Given the description of an element on the screen output the (x, y) to click on. 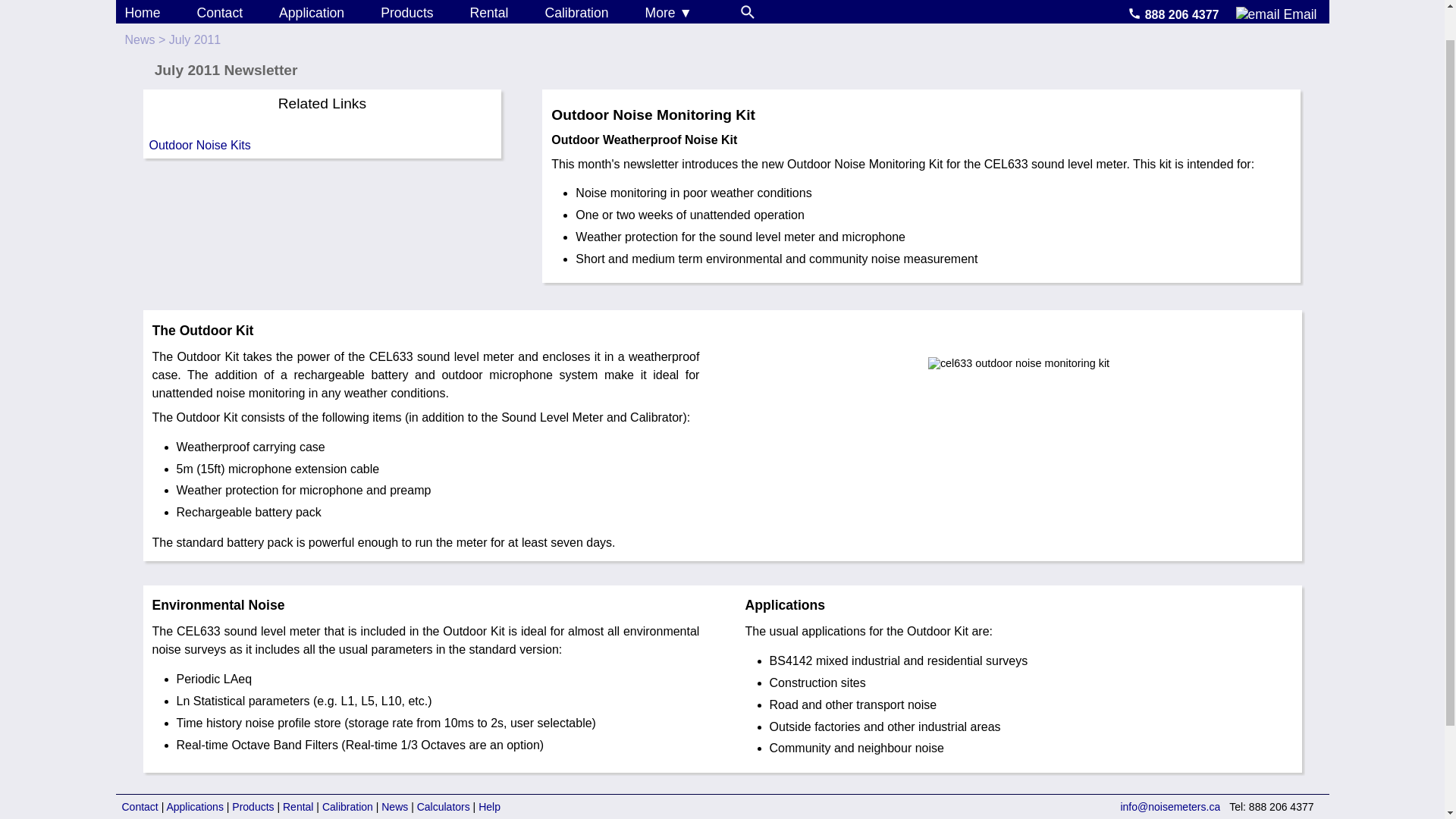
Contact (219, 12)
Application (311, 12)
Home (141, 12)
News (138, 39)
Calibration (576, 12)
Rental (489, 12)
Outdoor Noise Kits (321, 145)
Calibration (346, 806)
Calculators (443, 806)
News (394, 806)
